Given the description of an element on the screen output the (x, y) to click on. 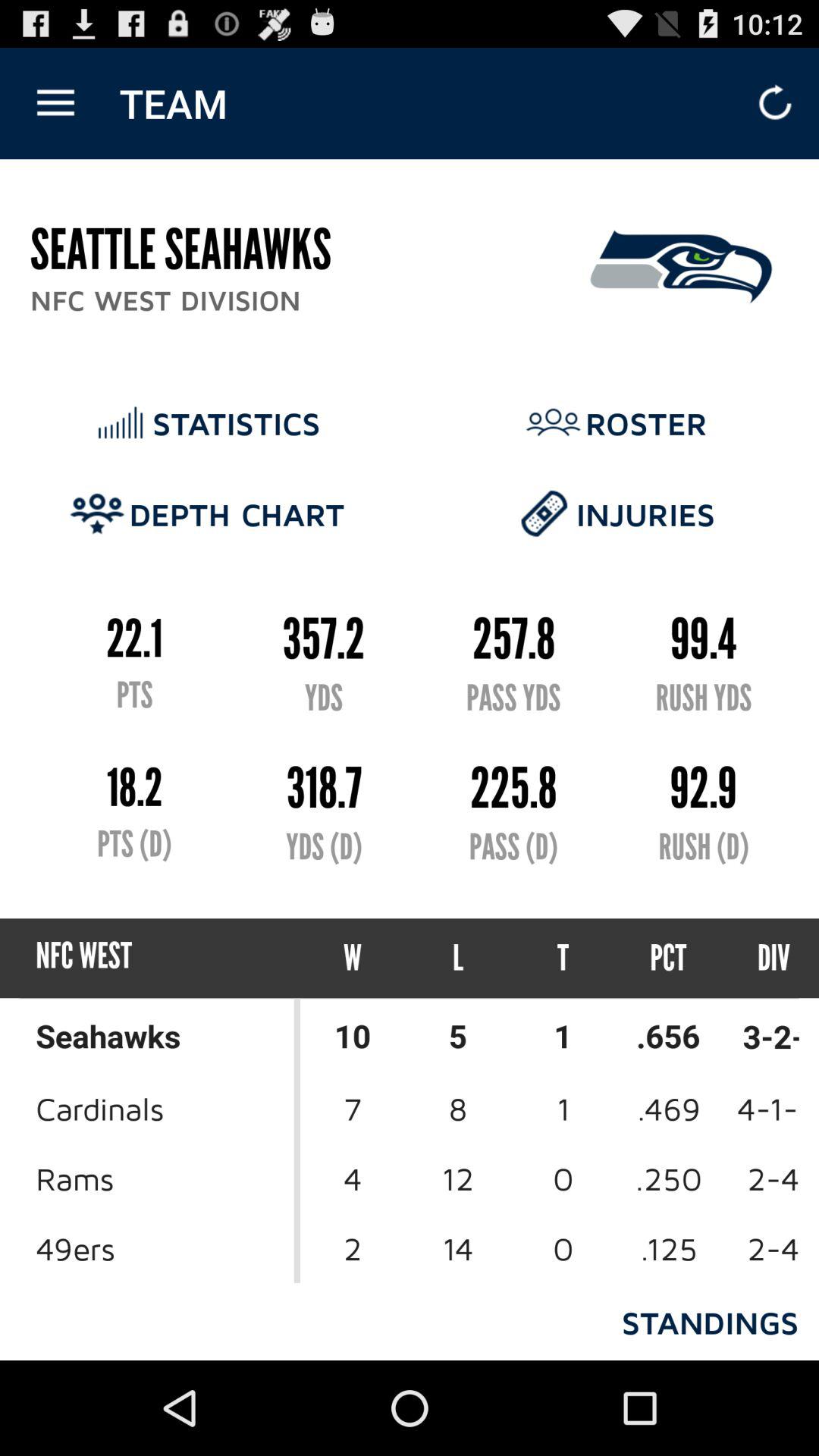
open item to the left of the pct icon (562, 958)
